Given the description of an element on the screen output the (x, y) to click on. 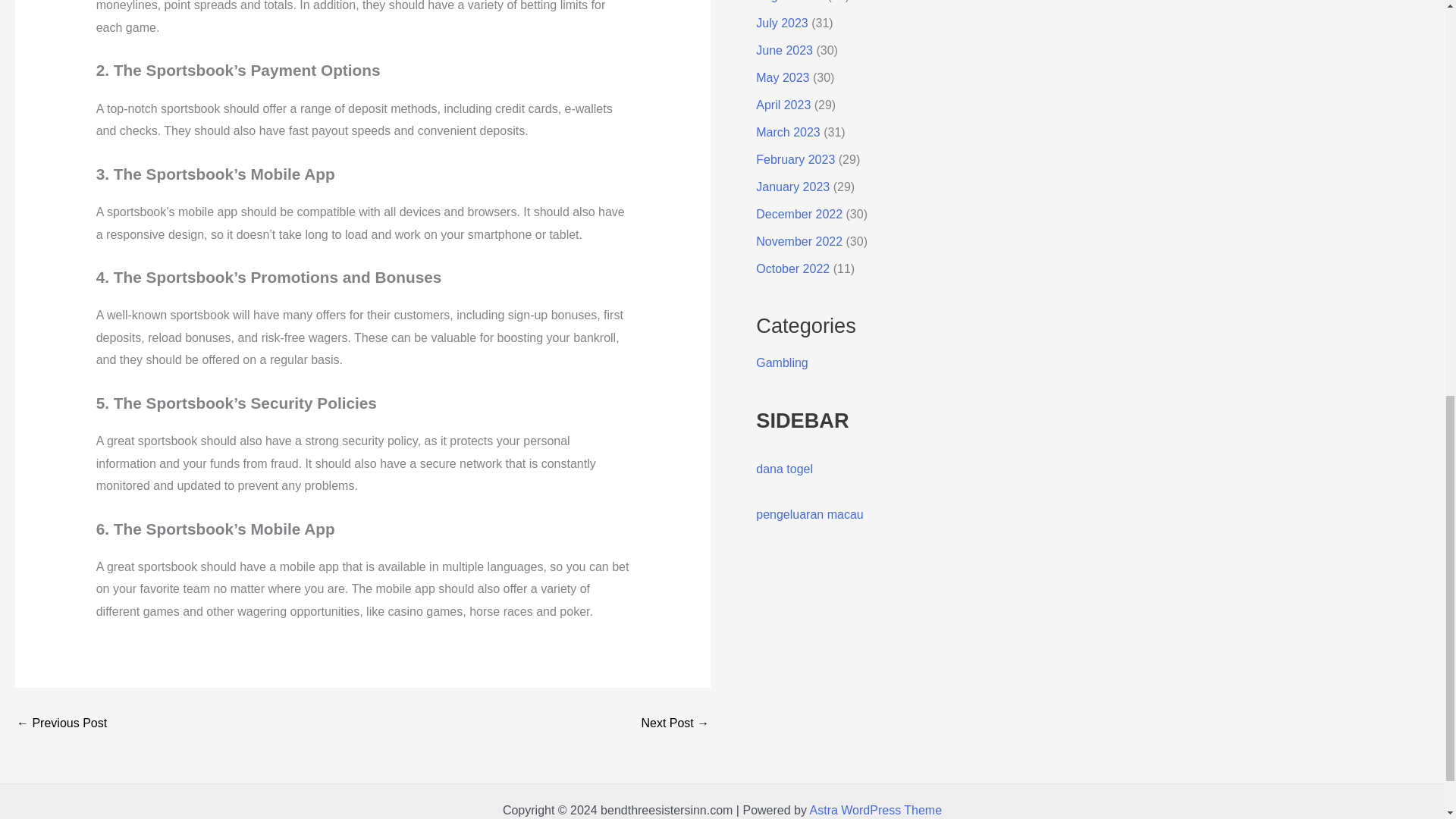
October 2022 (792, 268)
December 2022 (799, 214)
The Odds of Winning a Lottery (61, 723)
dana togel (783, 468)
February 2023 (794, 159)
April 2023 (782, 104)
June 2023 (783, 50)
May 2023 (782, 77)
How to Be a Better Poker Player (674, 723)
July 2023 (781, 22)
